Given the description of an element on the screen output the (x, y) to click on. 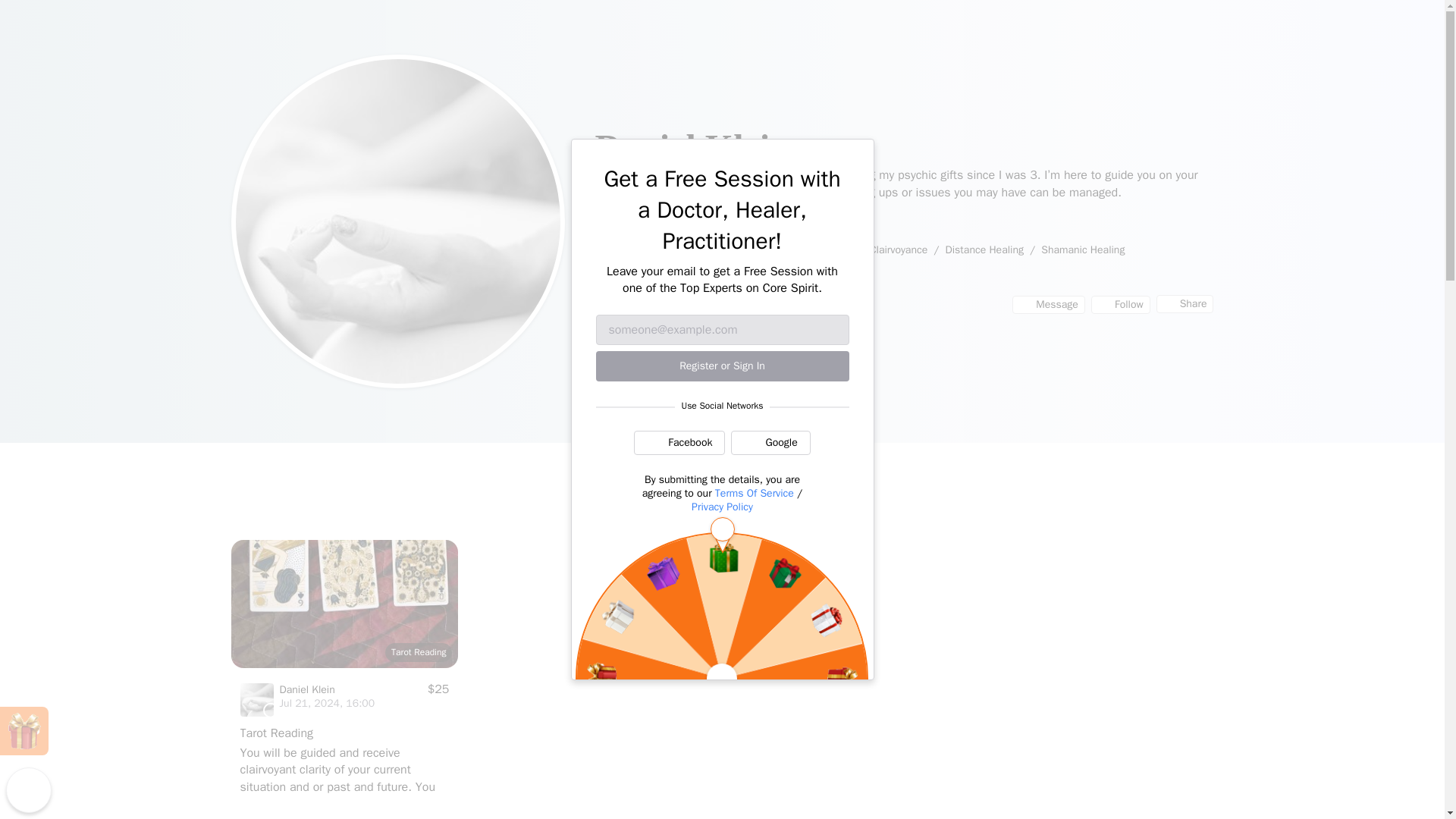
Back to top (27, 790)
Leave Review (631, 221)
Message (1047, 304)
Follow (1120, 304)
